Given the description of an element on the screen output the (x, y) to click on. 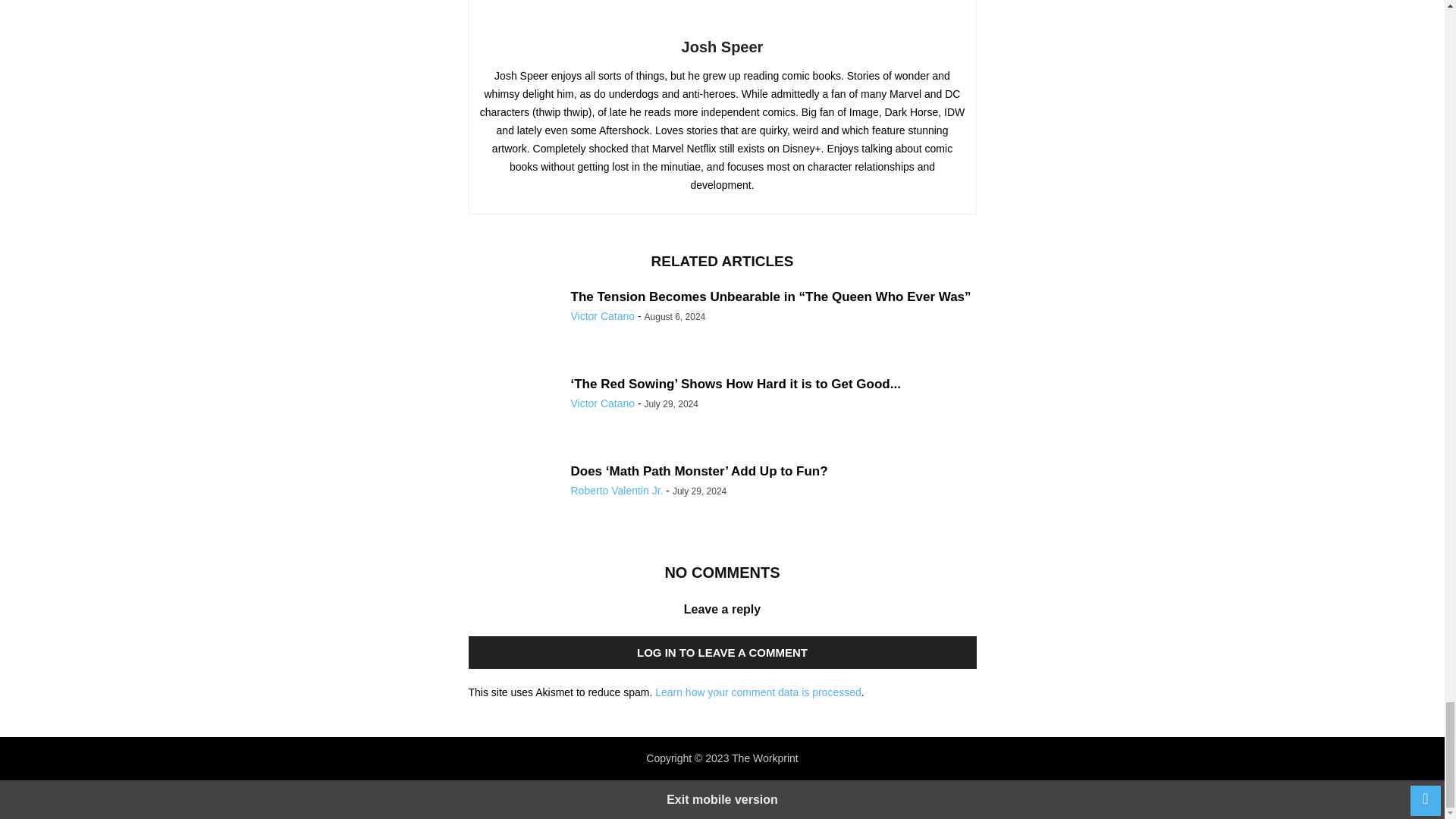
Josh Speer (721, 46)
Victor Catano (602, 403)
Victor Catano (602, 316)
